Given the description of an element on the screen output the (x, y) to click on. 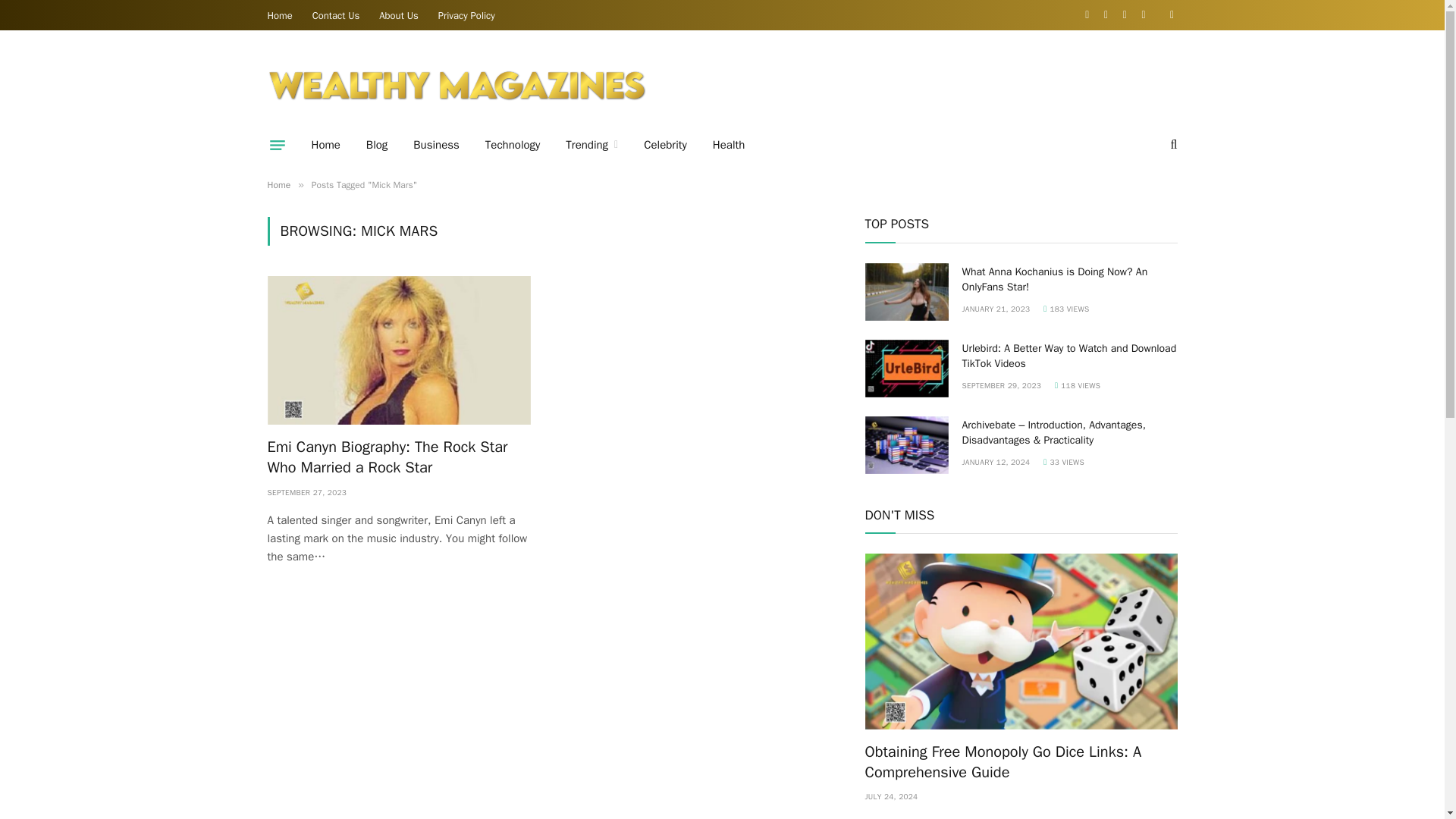
What Anna Kochanius is Doing Now? An OnlyFans Star! (906, 291)
Business (435, 144)
Home (277, 184)
Emi Canyn Biography: The Rock Star Who Married a Rock Star (398, 456)
Home (325, 144)
Contact Us (335, 15)
Privacy Policy (466, 15)
Wealthy Magazines (456, 85)
Health (729, 144)
118 Article Views (1077, 385)
